Given the description of an element on the screen output the (x, y) to click on. 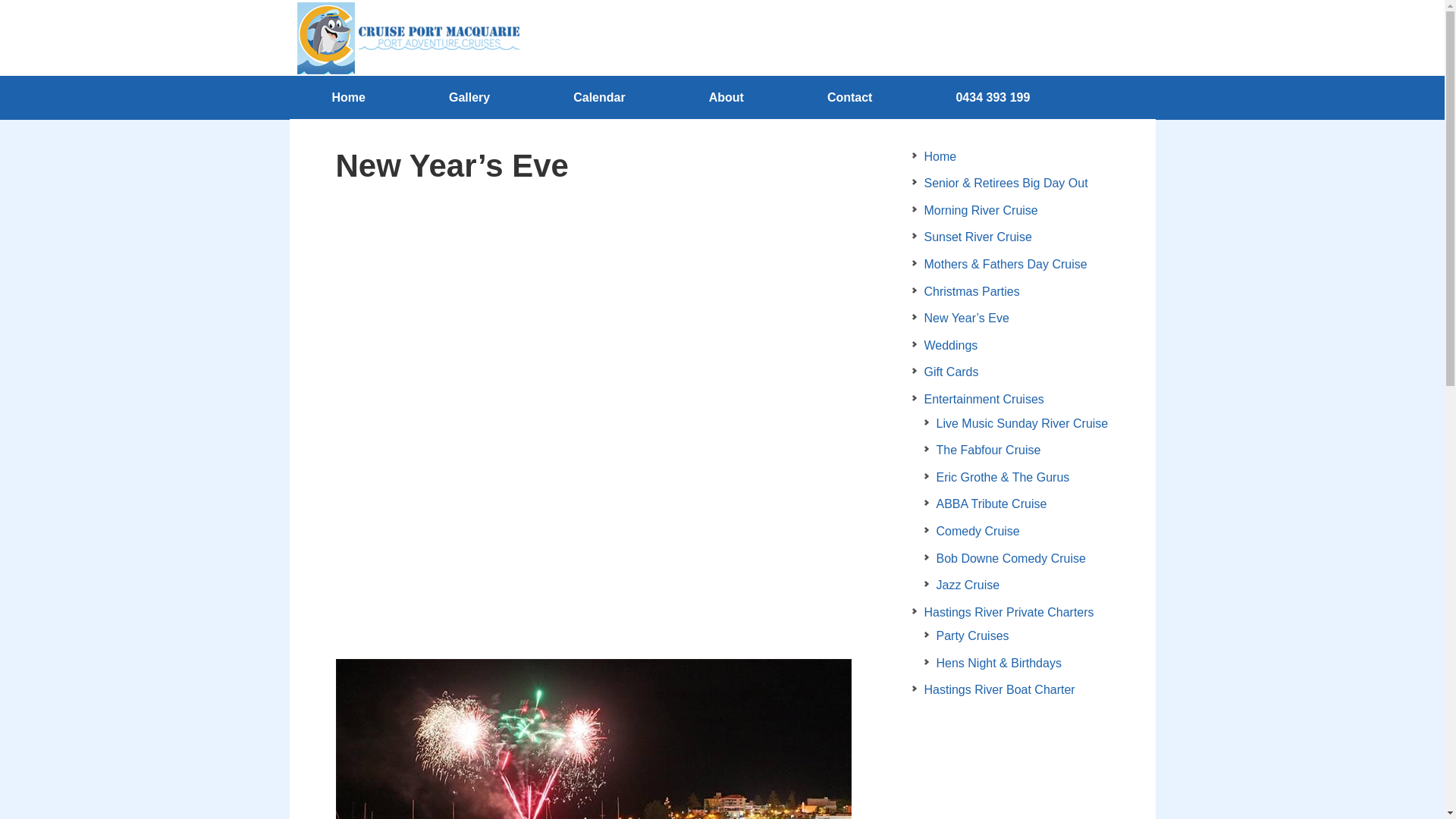
Contact Element type: text (849, 97)
0434 393 199 Element type: text (992, 97)
Sunset River Cruise Element type: text (977, 236)
Eric Grothe & The Gurus Element type: text (1002, 476)
Gallery Element type: text (469, 97)
Hens Night & Birthdays Element type: text (997, 662)
Morning River Cruise Element type: text (980, 209)
ABBA Tribute Cruise Element type: text (990, 503)
Calendar Element type: text (598, 97)
Bob Downe Comedy Cruise Element type: text (1010, 558)
Hastings River Boat Charter Element type: text (998, 689)
Gift Cards Element type: text (950, 371)
Comedy Cruise Element type: text (977, 530)
Senior & Retirees Big Day Out Element type: text (1005, 182)
Weddings Element type: text (950, 344)
Party Cruises Element type: text (971, 635)
Home Element type: text (939, 156)
About Element type: text (726, 97)
Christmas Parties Element type: text (971, 291)
Live Music Sunday River Cruise Element type: text (1021, 423)
Mothers & Fathers Day Cruise Element type: text (1004, 263)
Entertainment Cruises Element type: text (983, 398)
Skip to primary navigation Element type: text (0, 0)
Cruise Port Macquarie Element type: text (405, 37)
Home Element type: text (347, 97)
Hastings River Private Charters Element type: text (1008, 611)
The Fabfour Cruise Element type: text (987, 449)
Jazz Cruise Element type: text (967, 584)
